Given the description of an element on the screen output the (x, y) to click on. 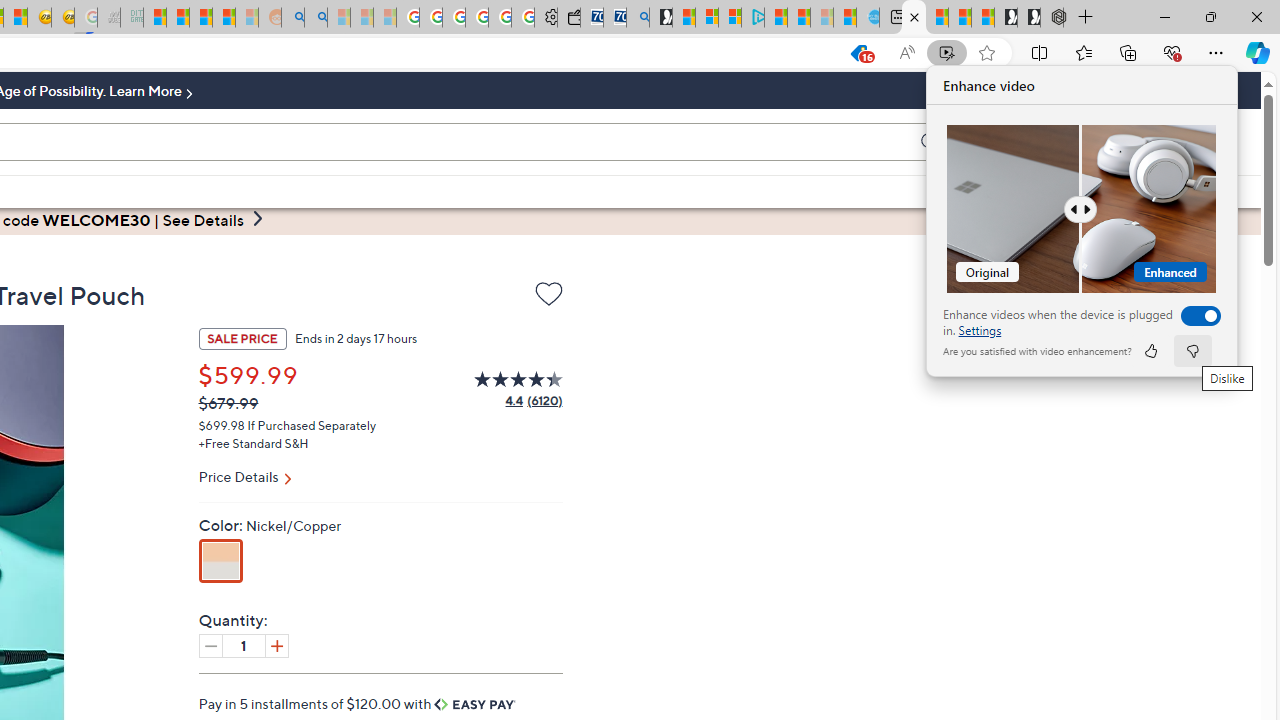
Quantity (243, 645)
Add to Wish List (548, 297)
like (1150, 350)
